Given the description of an element on the screen output the (x, y) to click on. 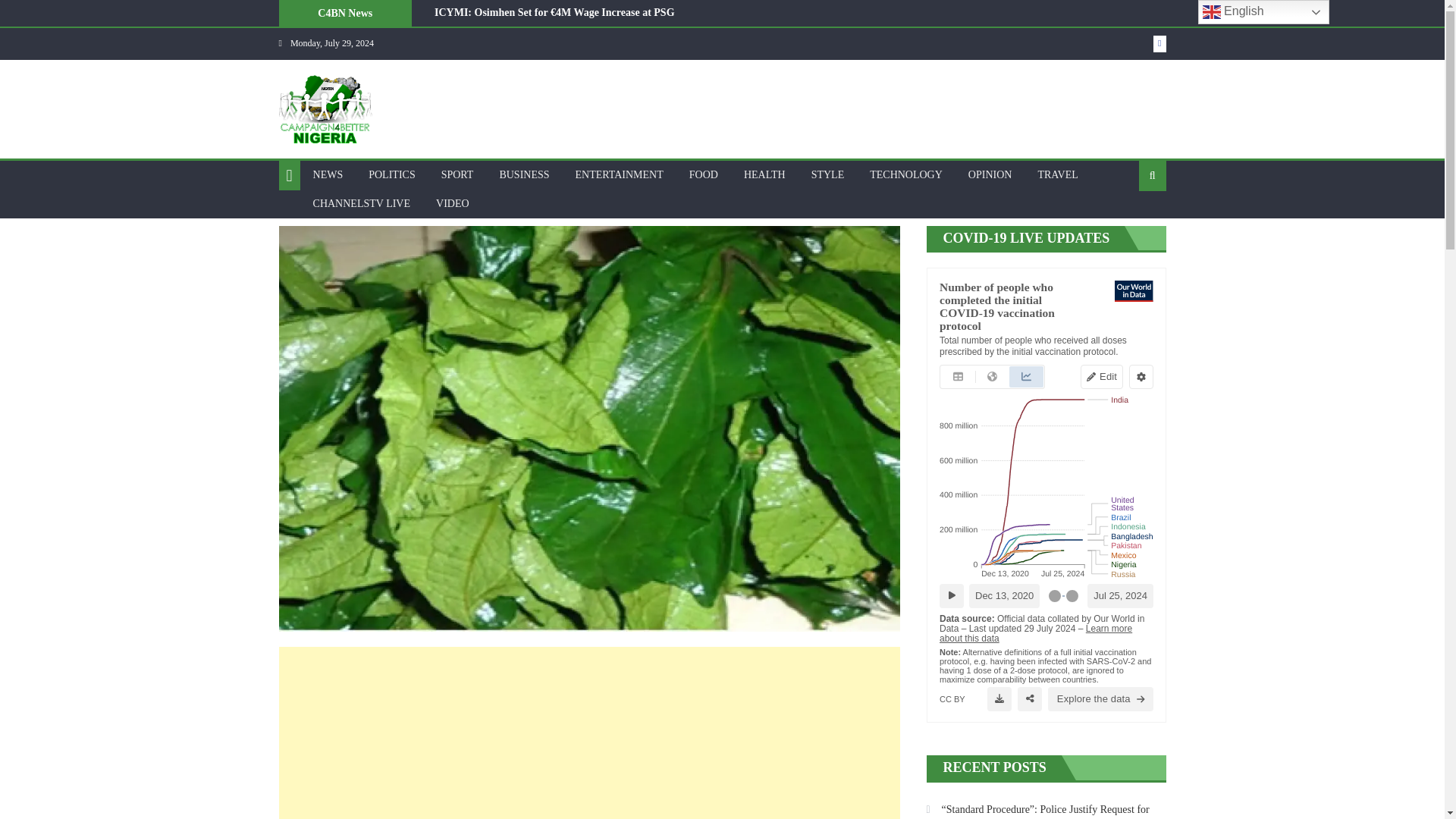
SPORT (456, 174)
Search (1128, 224)
CHANNELSTV LIVE (361, 203)
POLITICS (391, 174)
TRAVEL (1057, 174)
STYLE (827, 174)
BUSINESS (523, 174)
FOOD (703, 174)
ENTERTAINMENT (619, 174)
HEALTH (764, 174)
VIDEO (452, 203)
OPINION (989, 174)
Advertisement (589, 733)
NEWS (328, 174)
TECHNOLOGY (906, 174)
